Given the description of an element on the screen output the (x, y) to click on. 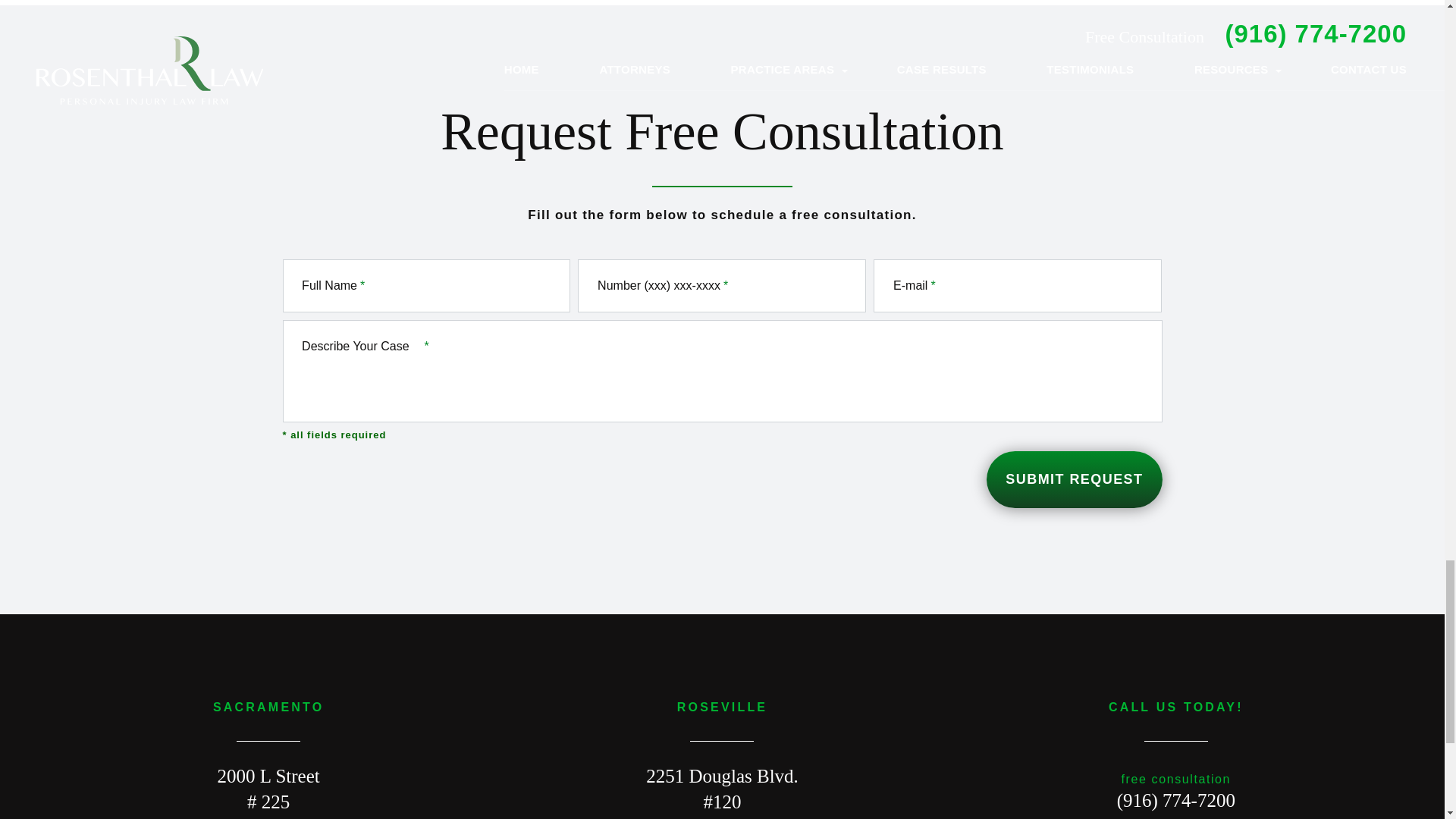
Free Consultation (1175, 800)
